Given the description of an element on the screen output the (x, y) to click on. 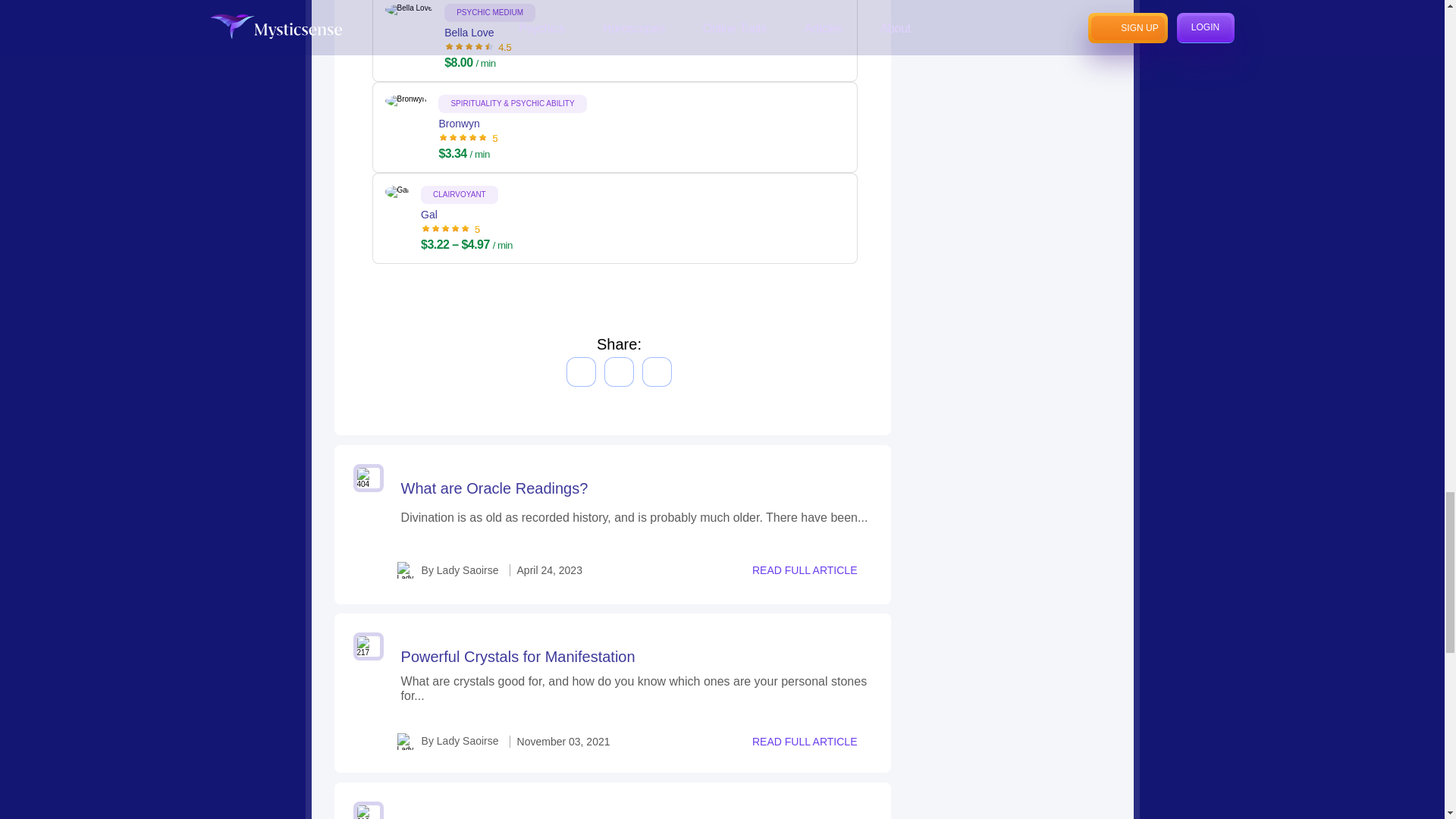
What are Oracle Readings? (494, 487)
READ FULL ARTICLE (809, 741)
Gal (466, 224)
Powerful Crystals for Manifestation (517, 656)
READ FULL ARTICLE (809, 570)
Bronwyn (512, 132)
Bella Love (489, 42)
